Given the description of an element on the screen output the (x, y) to click on. 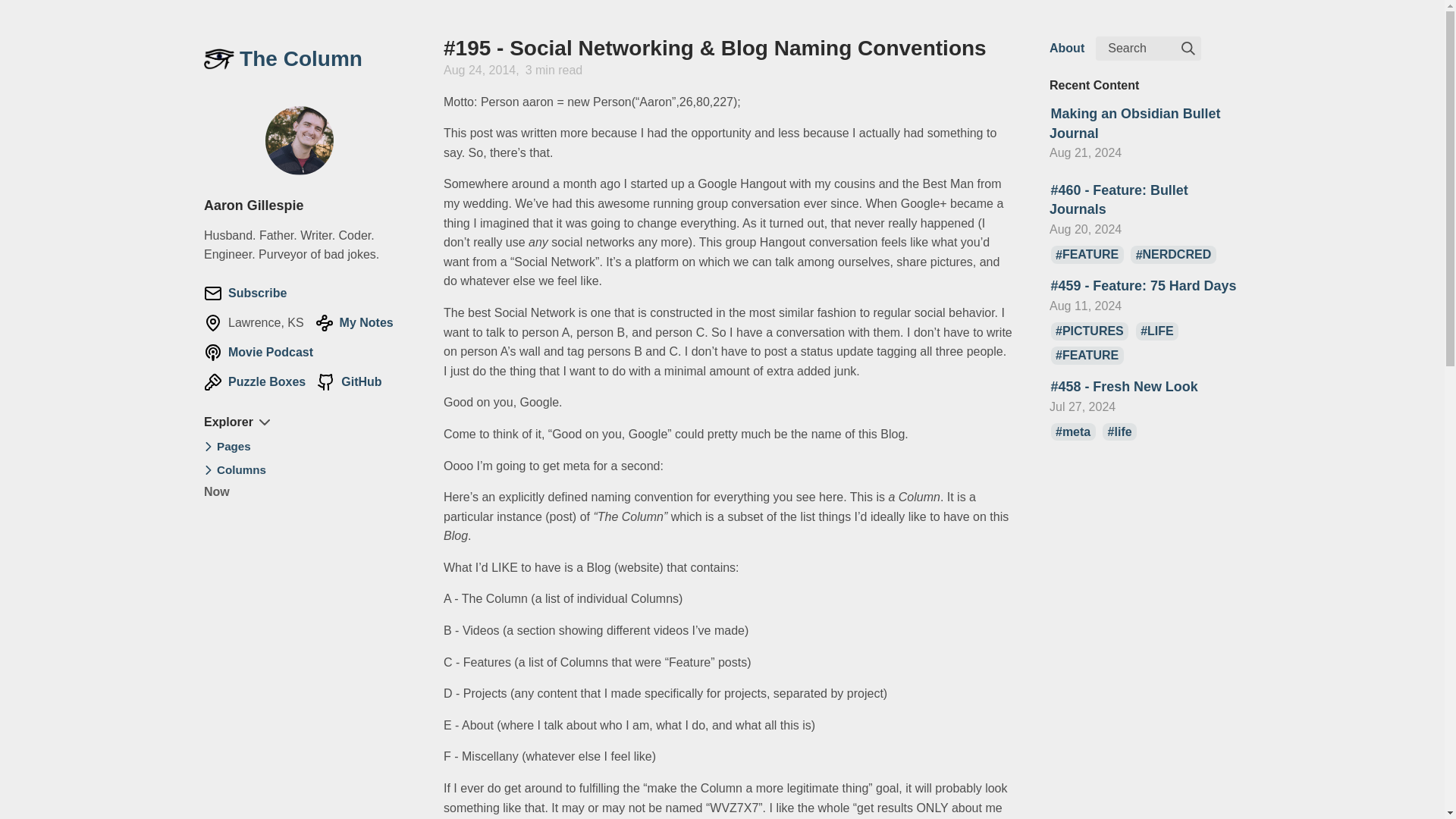
Subscribe (244, 293)
My Notes (354, 322)
The Column (298, 58)
Pages (233, 446)
Movie Podcast (258, 352)
GitHub (349, 382)
Columns (241, 469)
Explorer (236, 422)
Puzzle Boxes (254, 382)
